Given the description of an element on the screen output the (x, y) to click on. 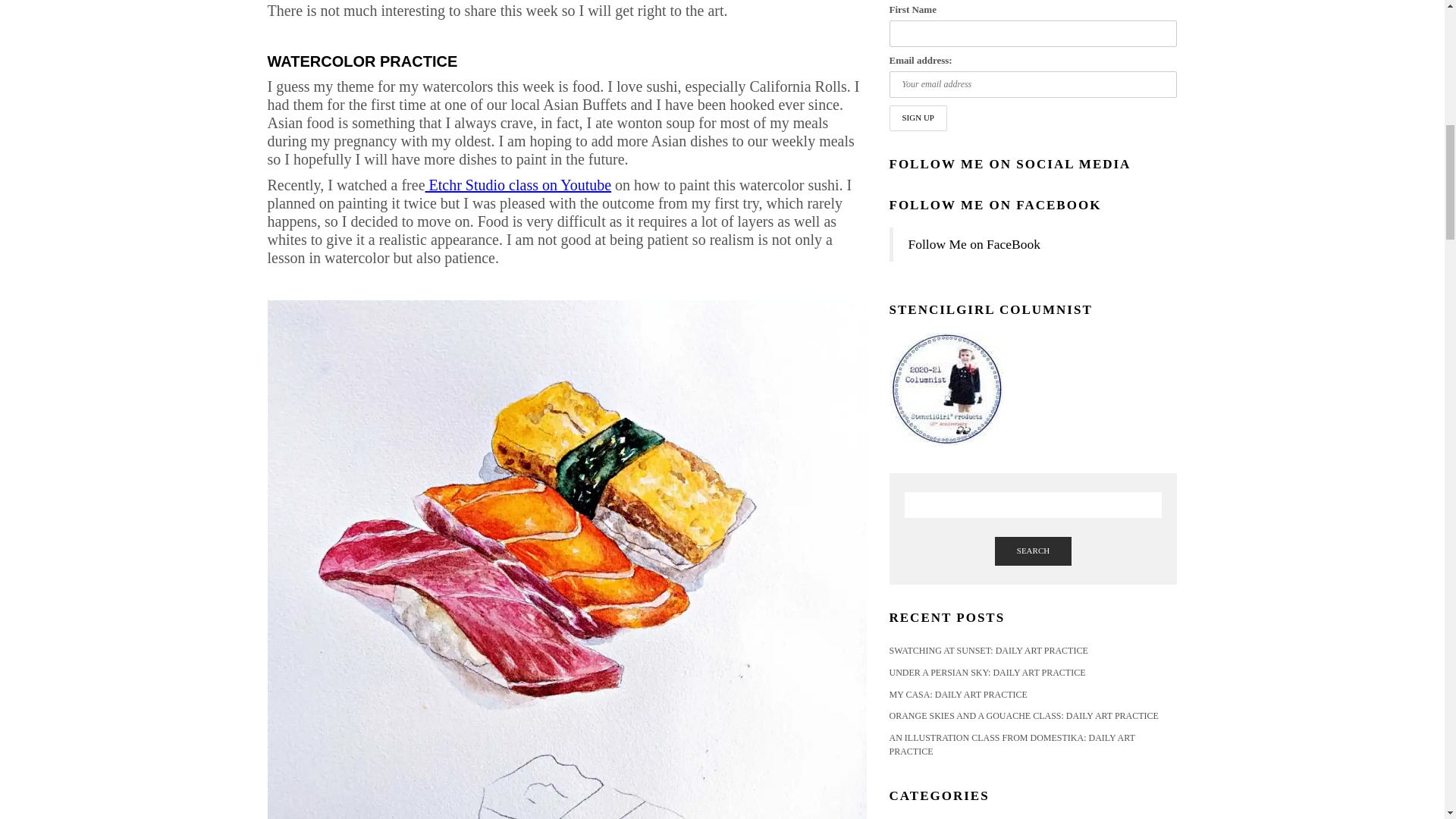
Etchr Studio class on Youtube (518, 184)
Sign up (917, 118)
